Given the description of an element on the screen output the (x, y) to click on. 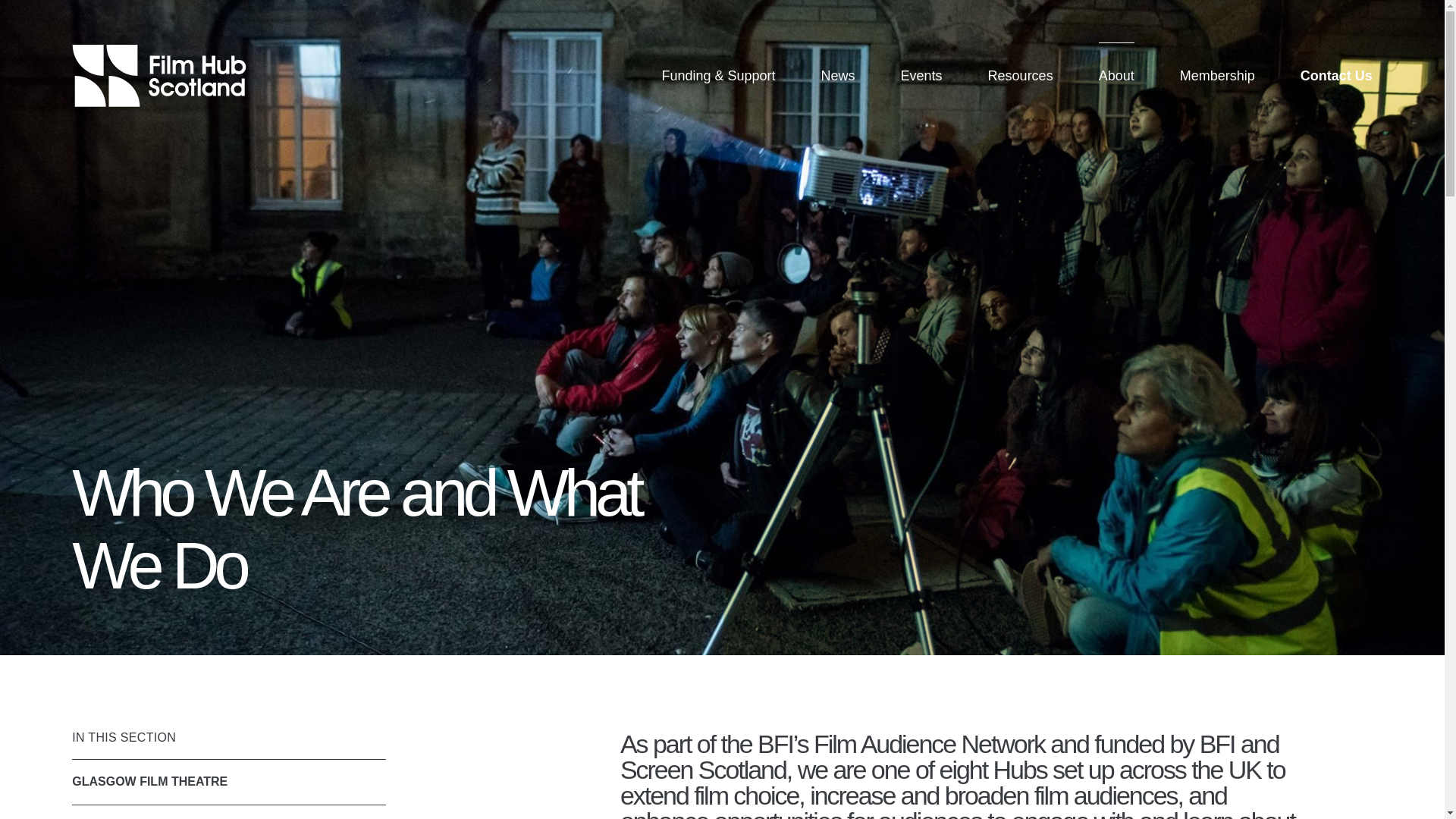
GLASGOW FILM THEATRE (228, 781)
Contact Us (1325, 75)
THE TEAM (228, 812)
News (837, 75)
About (1116, 75)
Resources (1020, 75)
Events (921, 75)
Membership (1217, 75)
